Given the description of an element on the screen output the (x, y) to click on. 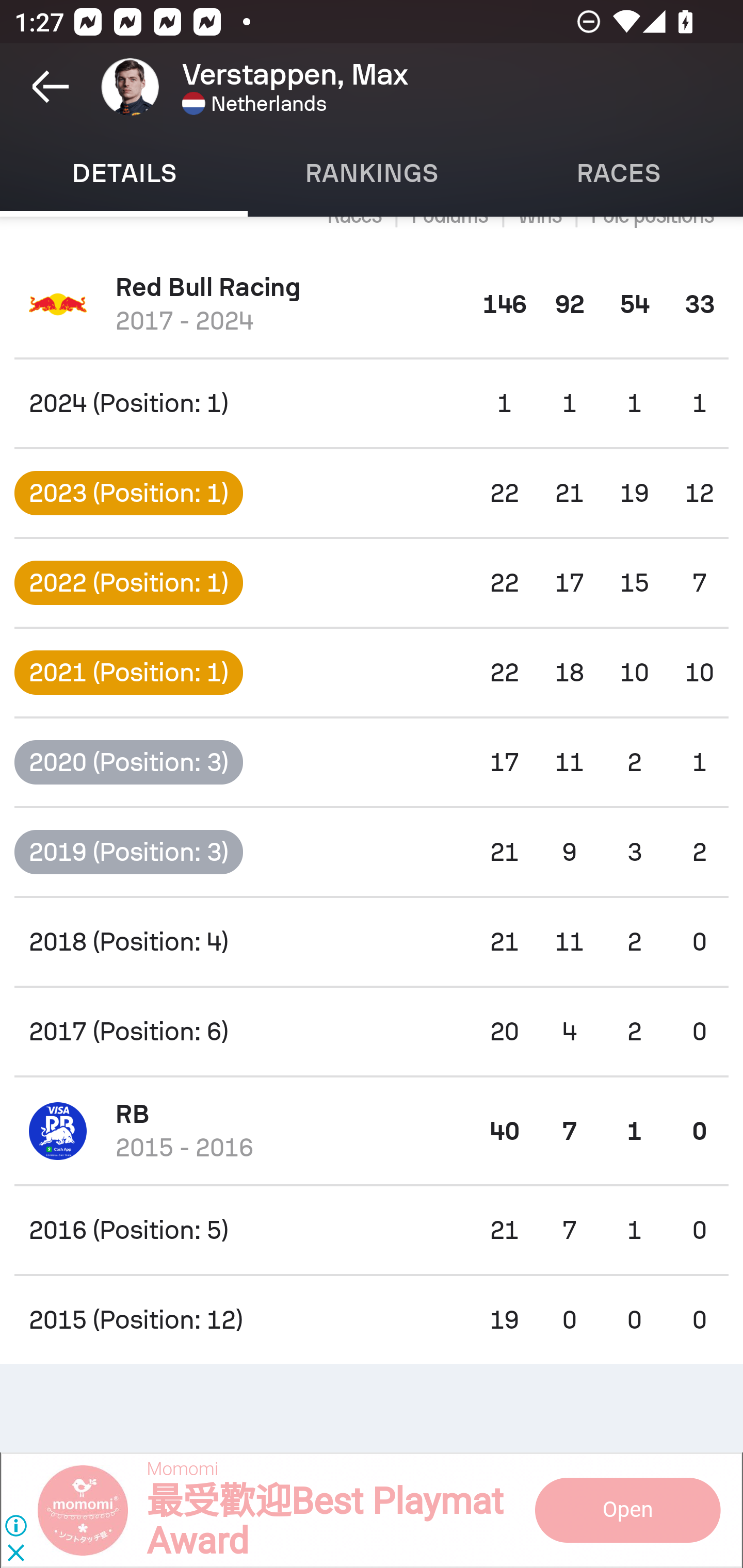
Navigate up (50, 86)
Rankings RANKINGS (371, 173)
Races RACES (619, 173)
Red Bull Racing 2017 - 2024 146 92 54 33 (371, 303)
2024 (Position: 1) 1 1 1 1 (371, 402)
2023 (Position: 1) 22 21 19 12 (371, 493)
2022 (Position: 1) 22 17 15 7 (371, 583)
2021 (Position: 1) 22 18 10 10 (371, 672)
2020 (Position: 3) 17 11 2 1 (371, 761)
2019 (Position: 3) 21 9 3 2 (371, 851)
2018 (Position: 4) 21 11 2 0 (371, 942)
2017 (Position: 6) 20 4 2 0 (371, 1031)
RB 2015 - 2016 40 7 1 0 (371, 1130)
2016 (Position: 5) 21 7 1 0 (371, 1229)
2015 (Position: 12) 19 0 0 0 (371, 1320)
Momomi (181, 1469)
momomijapan (92, 1509)
momomijapan (626, 1509)
最受歡迎Best Playmat Award 最受歡迎Best Playmat Award (323, 1521)
